Given the description of an element on the screen output the (x, y) to click on. 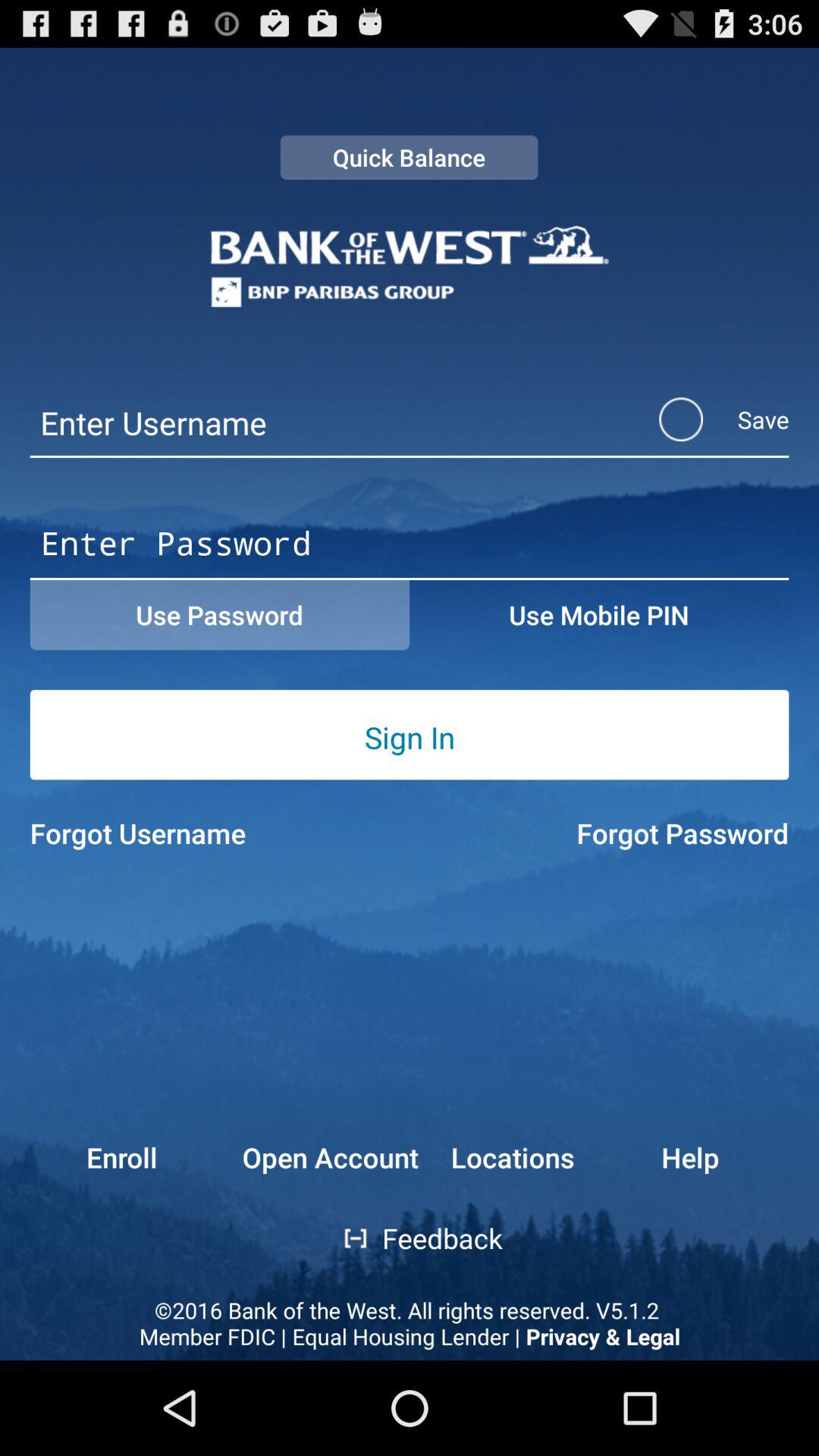
launch button next to the open account icon (512, 1157)
